Given the description of an element on the screen output the (x, y) to click on. 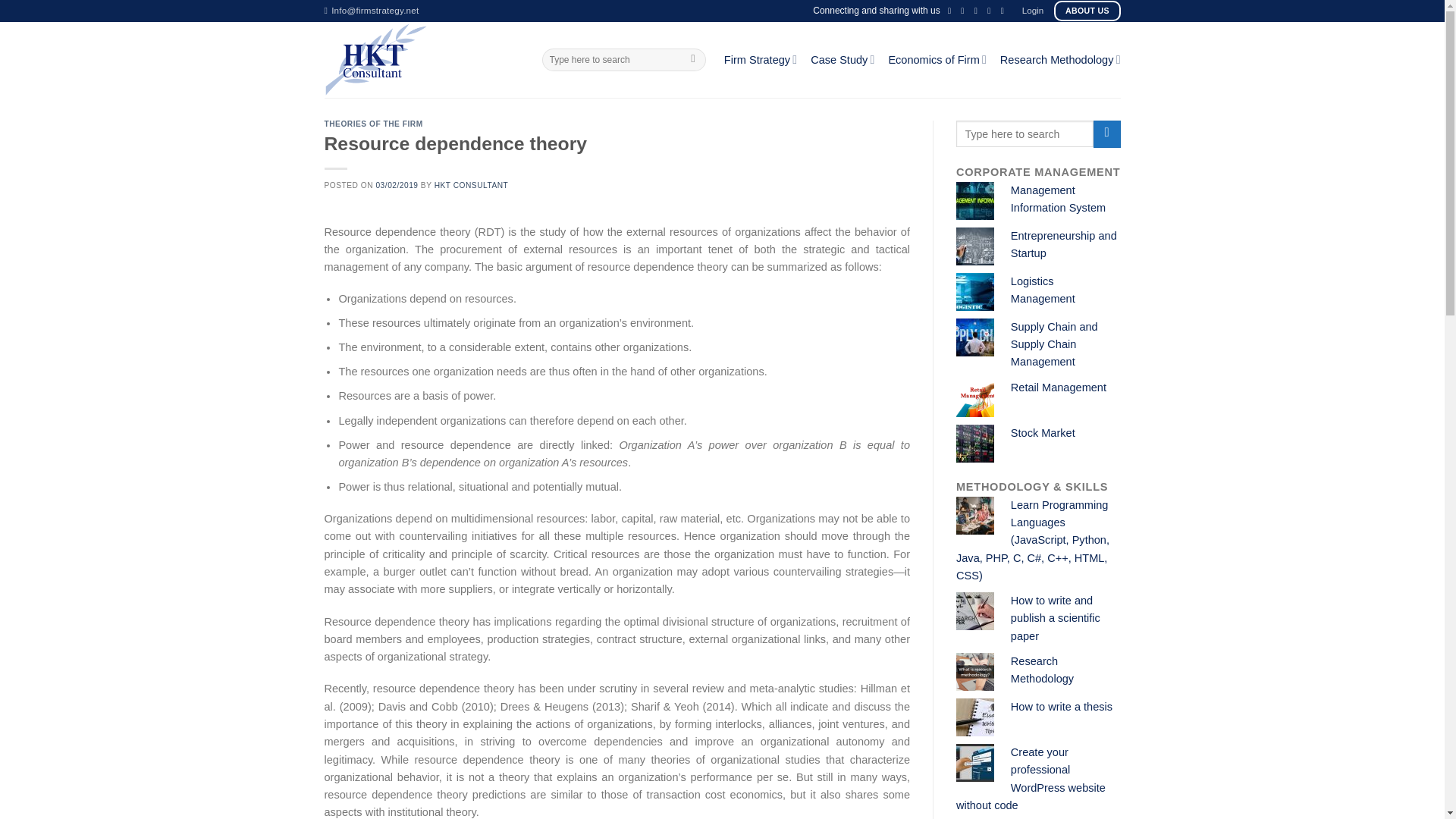
ABOUT US (1086, 10)
Firm Strategy (759, 59)
Case Study (842, 59)
Connecting and sharing with us (875, 10)
HKT Consultant (421, 59)
Login (1032, 11)
